Given the description of an element on the screen output the (x, y) to click on. 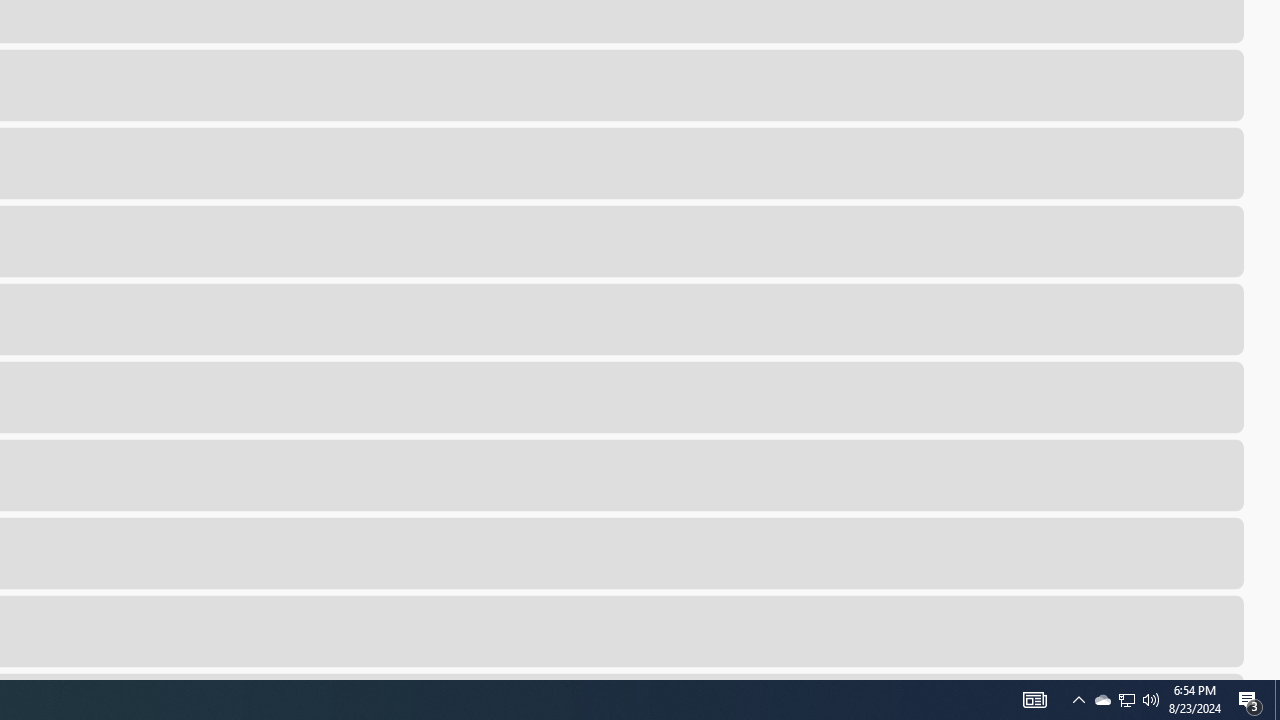
More options (1215, 630)
Open (1123, 630)
